Given the description of an element on the screen output the (x, y) to click on. 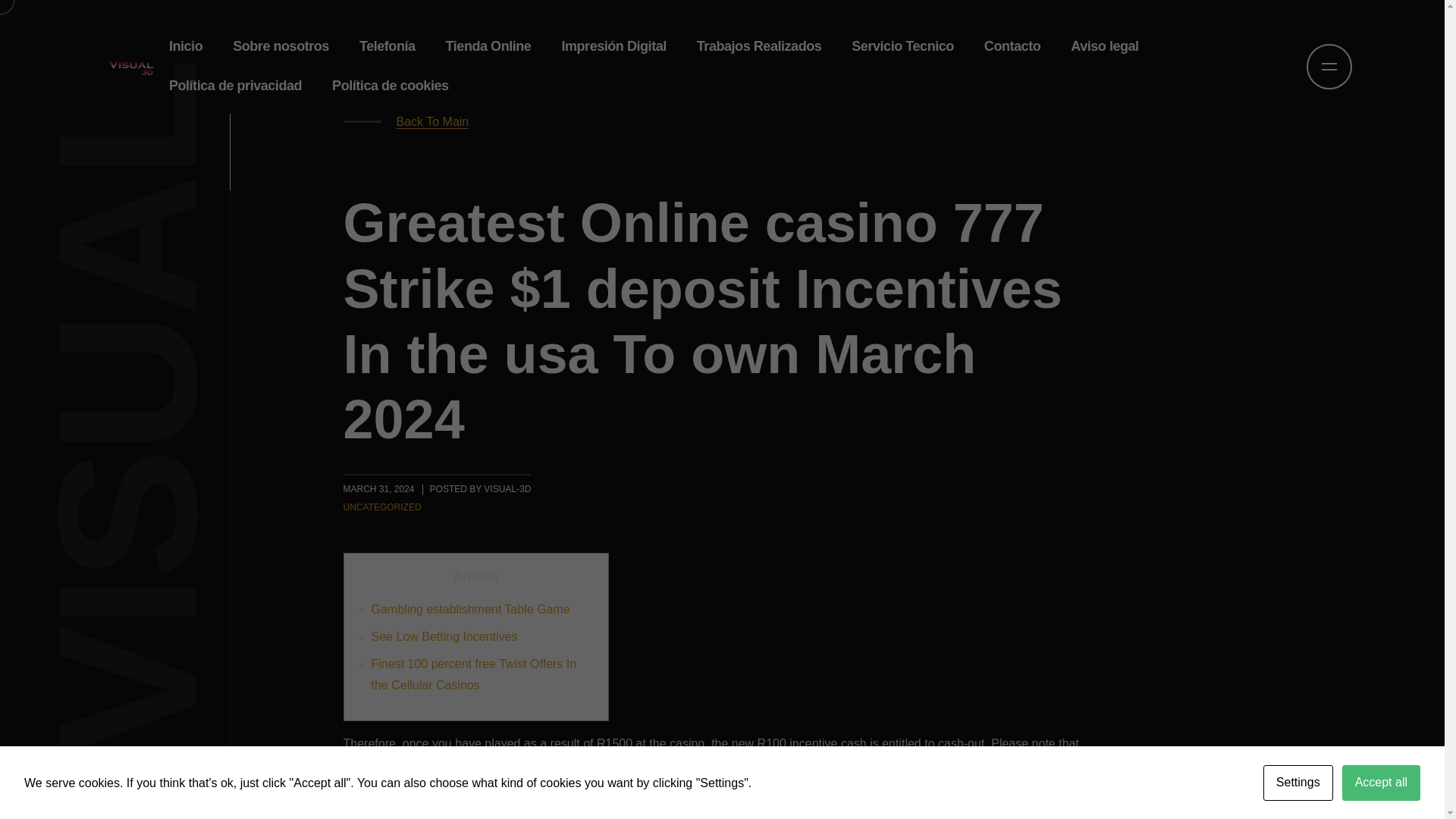
Tienda Online (488, 46)
Servicio Tecnico (902, 46)
Inicio (185, 46)
Contacto (1012, 46)
Sobre nosotros (279, 46)
Trabajos Realizados (759, 46)
Aviso legal (1104, 46)
